Given the description of an element on the screen output the (x, y) to click on. 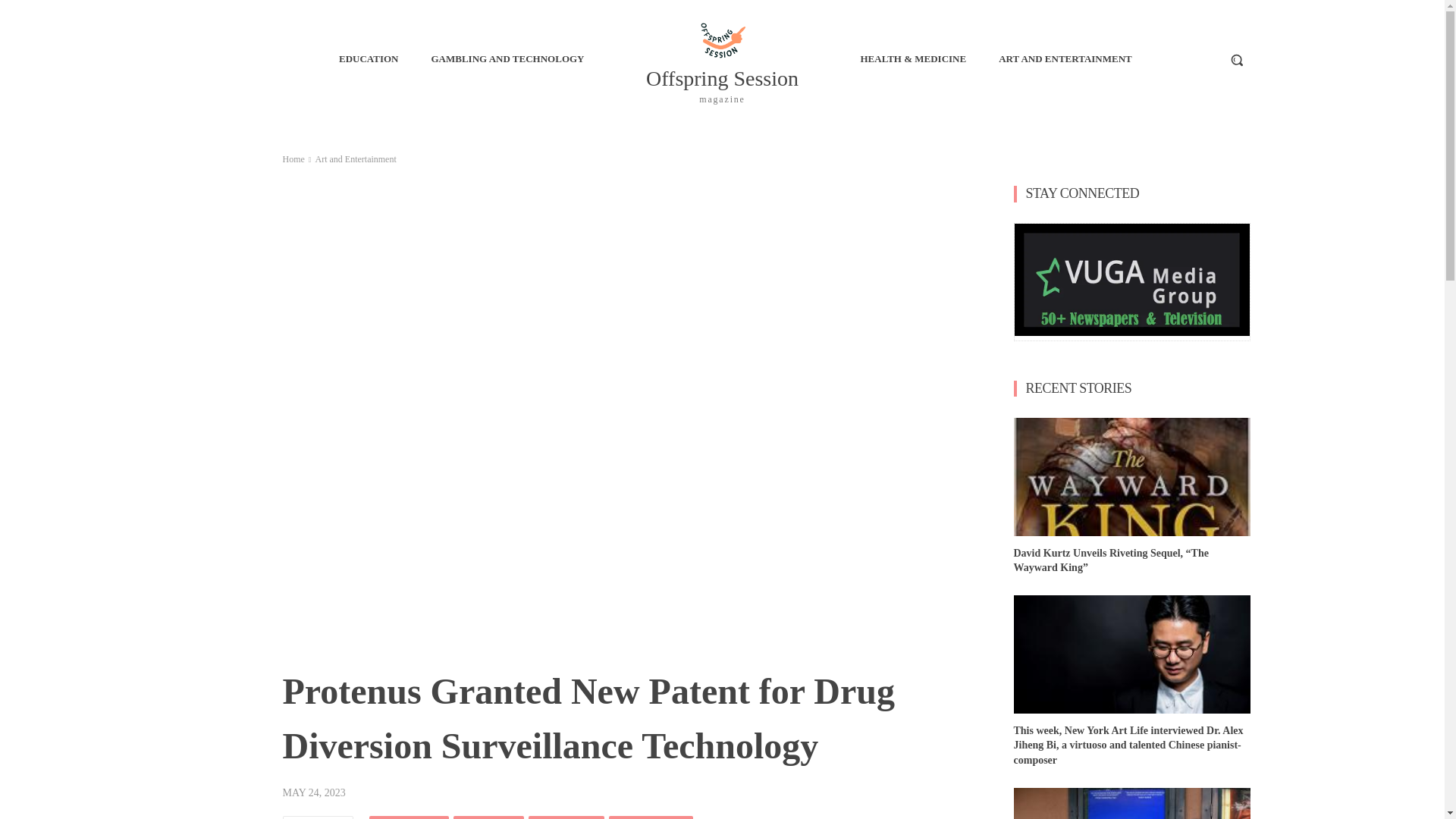
Art and Entertainment (355, 158)
Pinterest (566, 817)
Home (293, 158)
Pinterest (721, 58)
WhatsApp (566, 817)
EDUCATION (650, 817)
offspring session  (369, 58)
Twitter (721, 58)
WhatsApp (488, 817)
Twitter (650, 817)
Facebook (488, 817)
offspring session  (408, 817)
View all posts in Art and Entertainment (722, 38)
Facebook (355, 158)
